Given the description of an element on the screen output the (x, y) to click on. 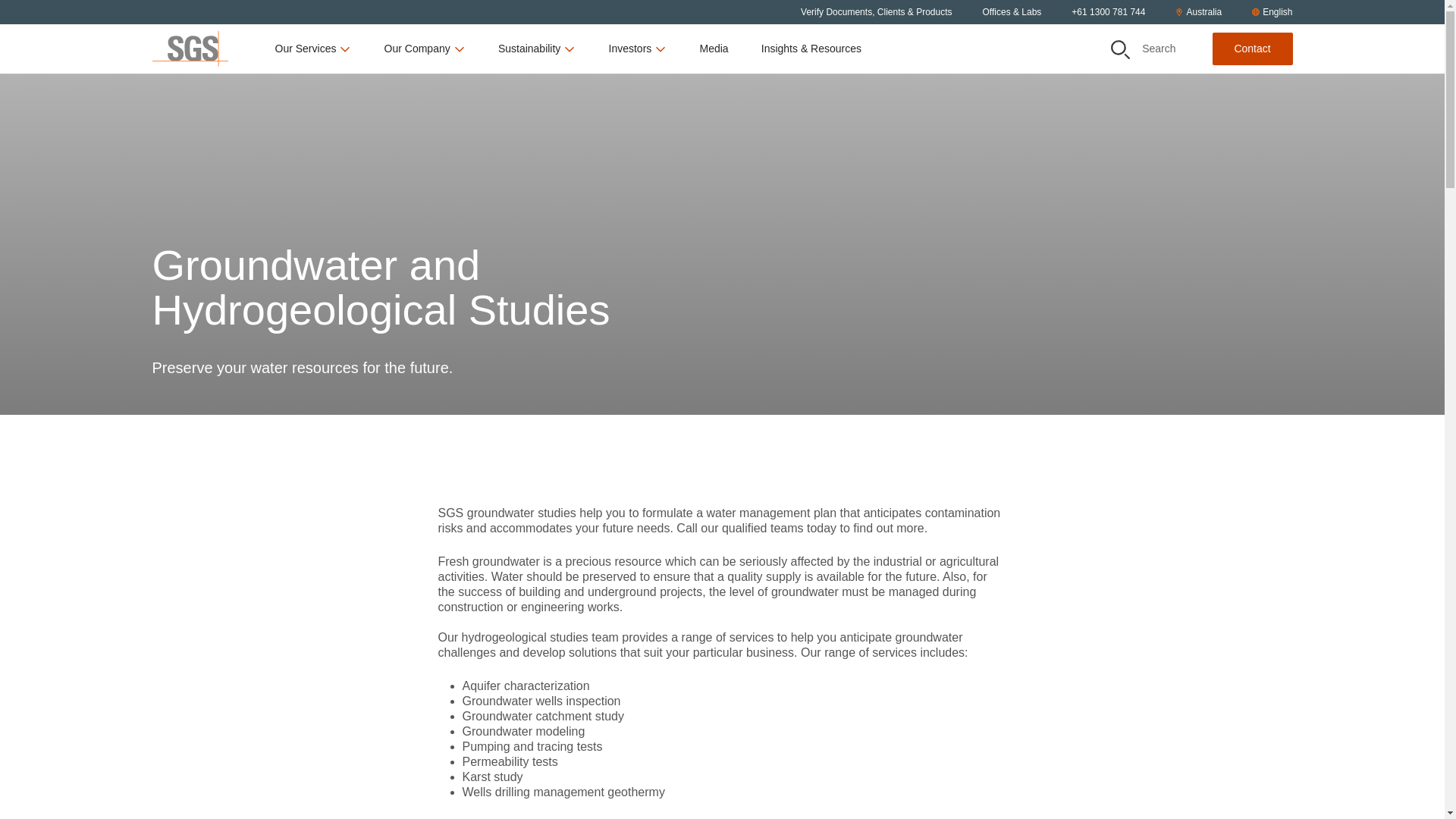
Australia (1197, 12)
Search (1143, 48)
SGS (189, 48)
Contact (1251, 48)
Investors (637, 48)
Our Company (424, 48)
Search (1119, 49)
Our Services (313, 48)
Media (713, 48)
Sustainability (536, 48)
